Given the description of an element on the screen output the (x, y) to click on. 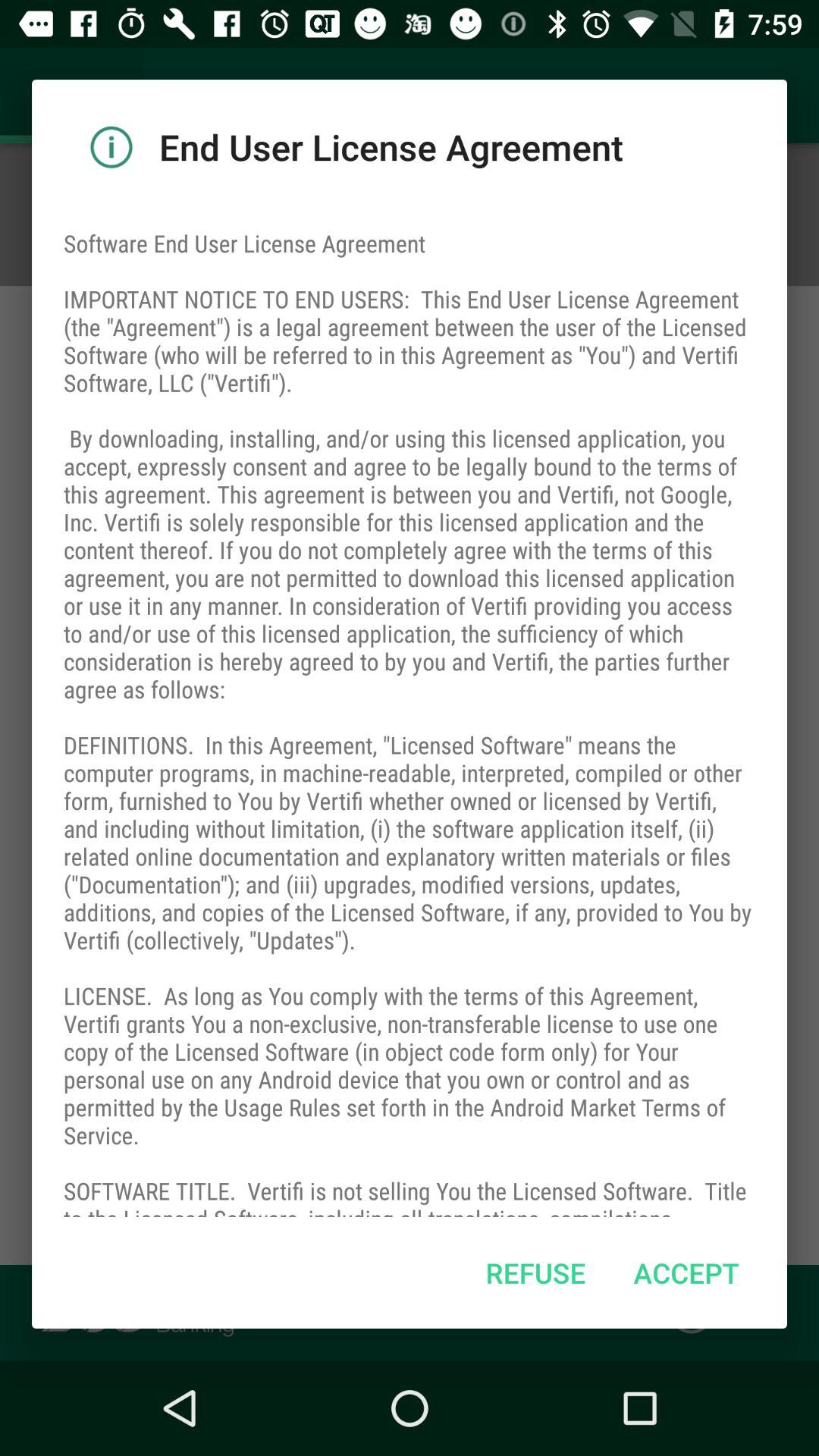
turn off icon next to the refuse icon (686, 1272)
